Given the description of an element on the screen output the (x, y) to click on. 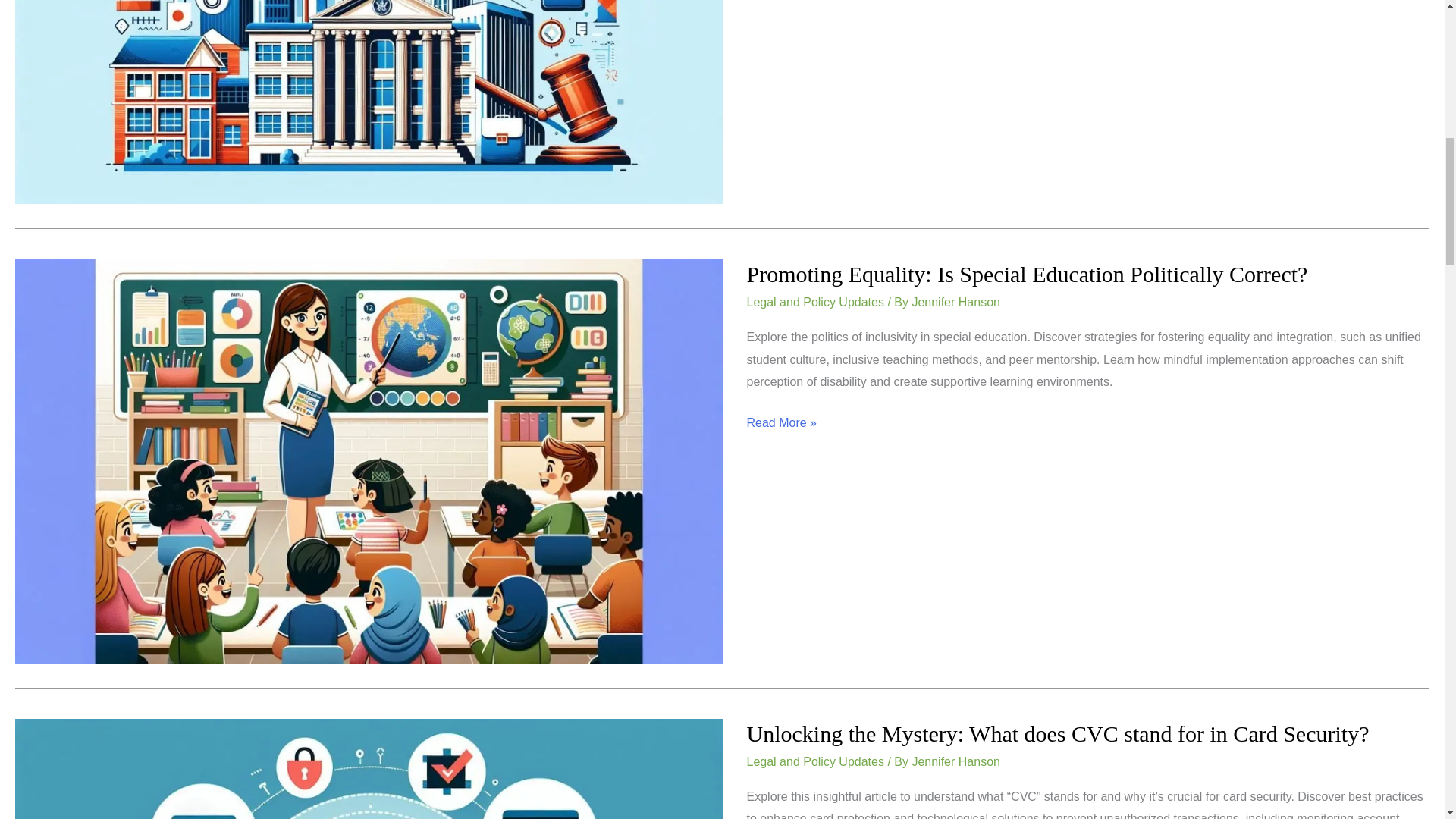
View all posts by Jennifer Hanson (955, 301)
View all posts by Jennifer Hanson (955, 761)
